Given the description of an element on the screen output the (x, y) to click on. 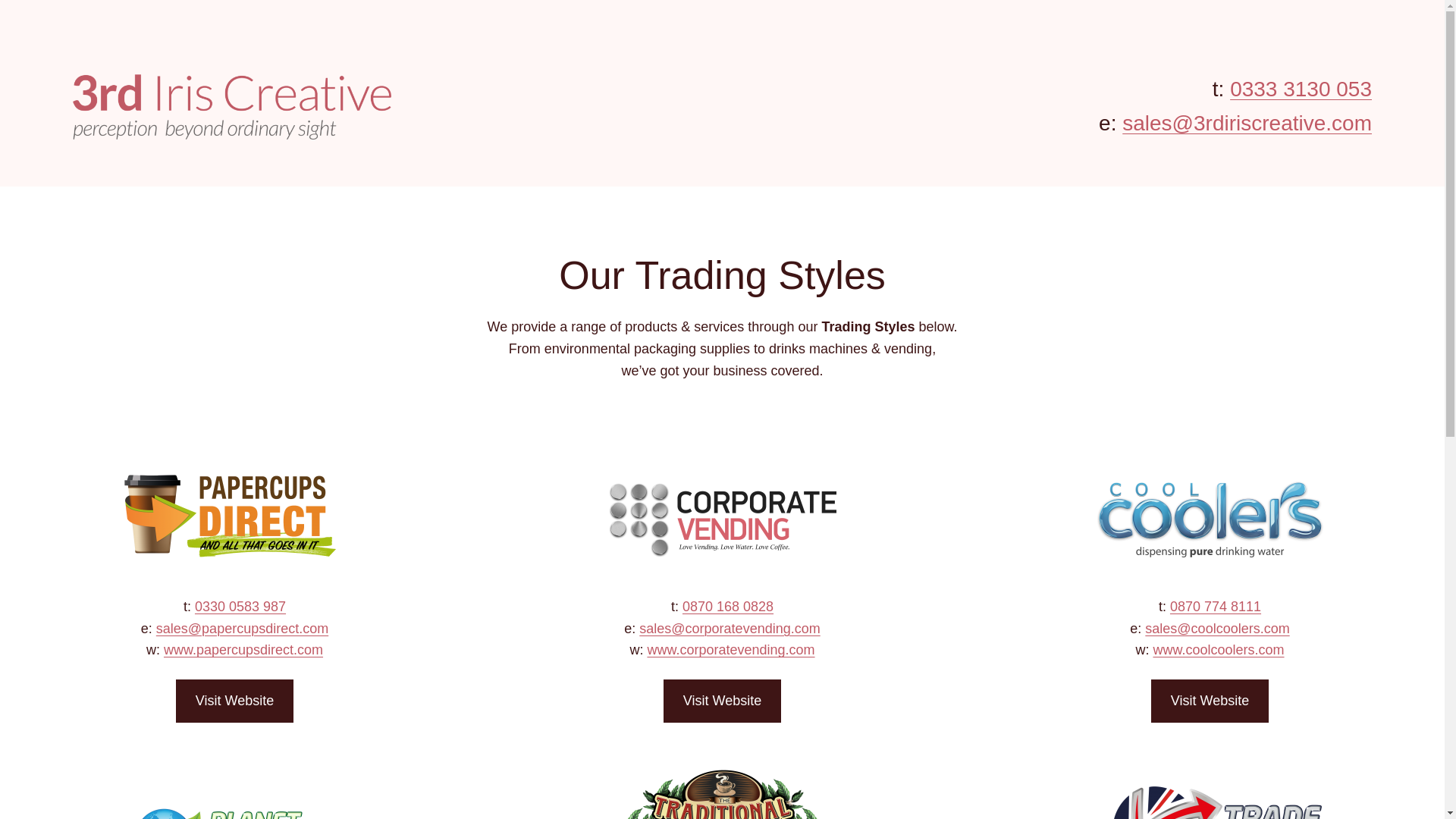
sales@3rdiriscreative.com Element type: text (1246, 122)
Visit Website Element type: text (1209, 700)
www.corporatevending.com Element type: text (730, 649)
0870 168 0828 Element type: text (727, 606)
Visit Website Element type: text (234, 700)
www.papercupsdirect.com Element type: text (243, 649)
sales@coolcoolers.com Element type: text (1217, 628)
0333 3130 053 Element type: text (1300, 88)
0870 774 8111 Element type: text (1215, 606)
0330 0583 987 Element type: text (239, 606)
Visit Website Element type: text (722, 700)
sales@papercupsdirect.com Element type: text (242, 628)
www.coolcoolers.com Element type: text (1217, 649)
sales@corporatevending.com Element type: text (729, 628)
